Given the description of an element on the screen output the (x, y) to click on. 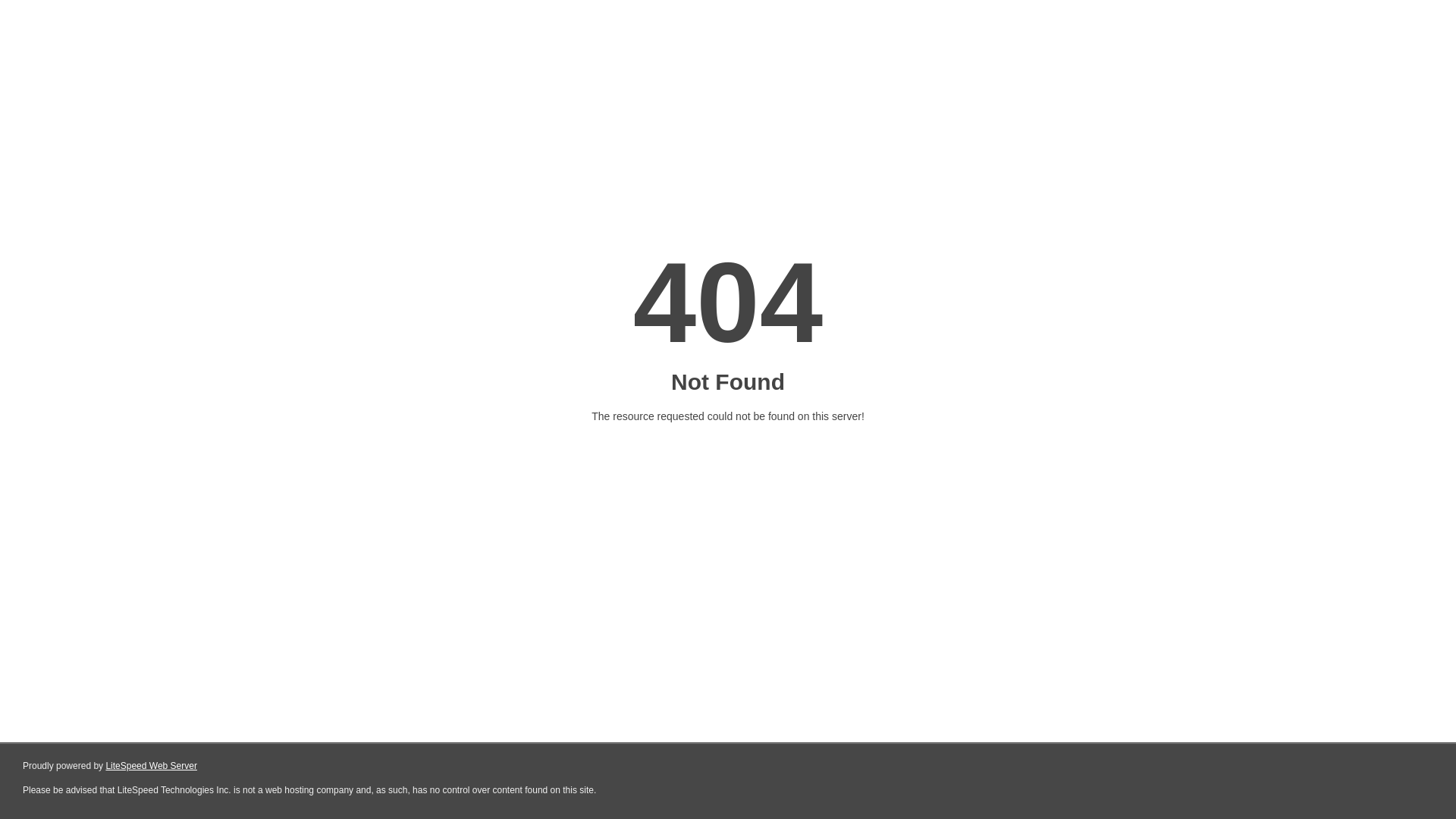
LiteSpeed Web Server Element type: text (151, 765)
